Given the description of an element on the screen output the (x, y) to click on. 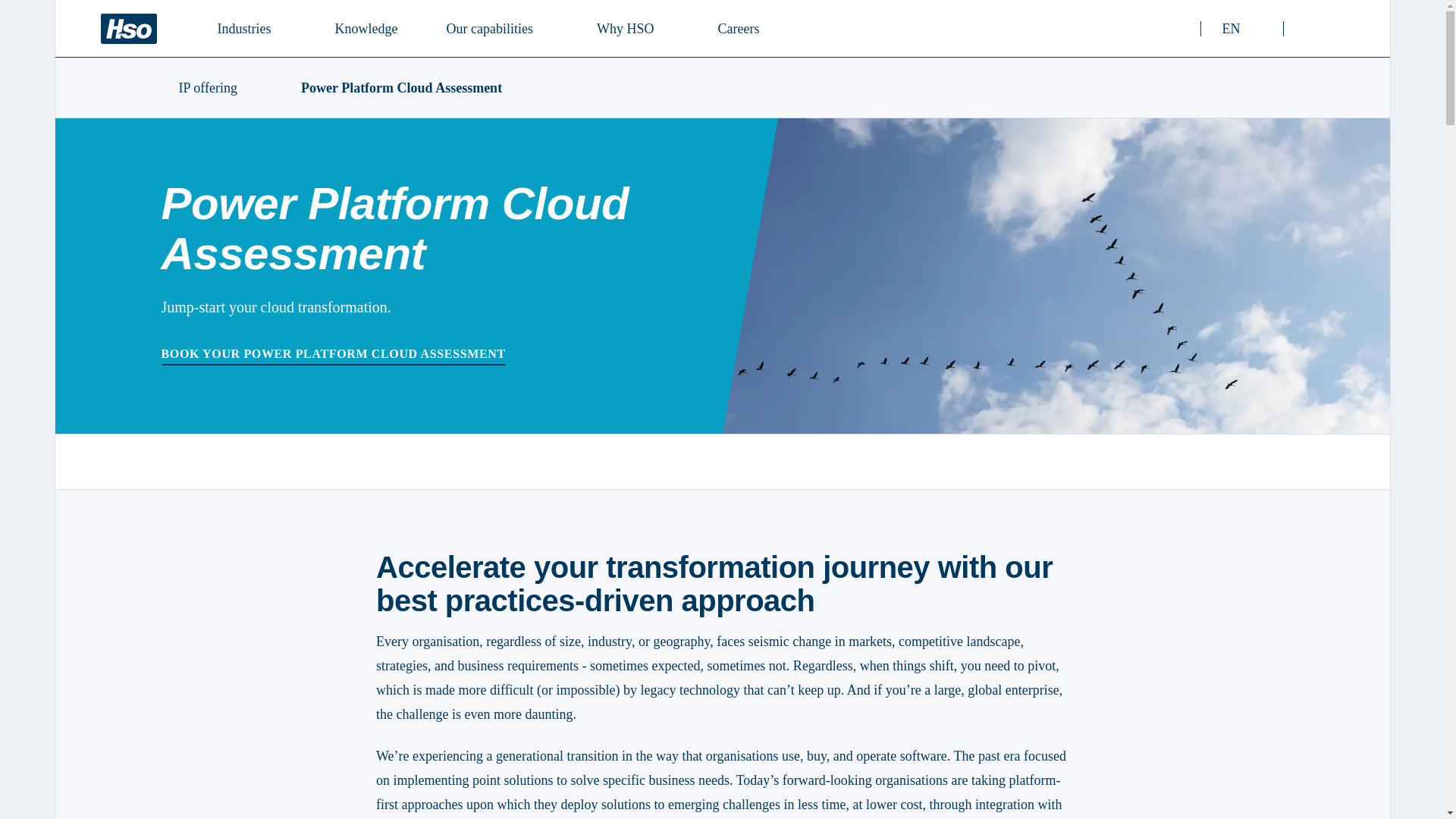
Logo (495, 27)
Industries (127, 28)
